Given the description of an element on the screen output the (x, y) to click on. 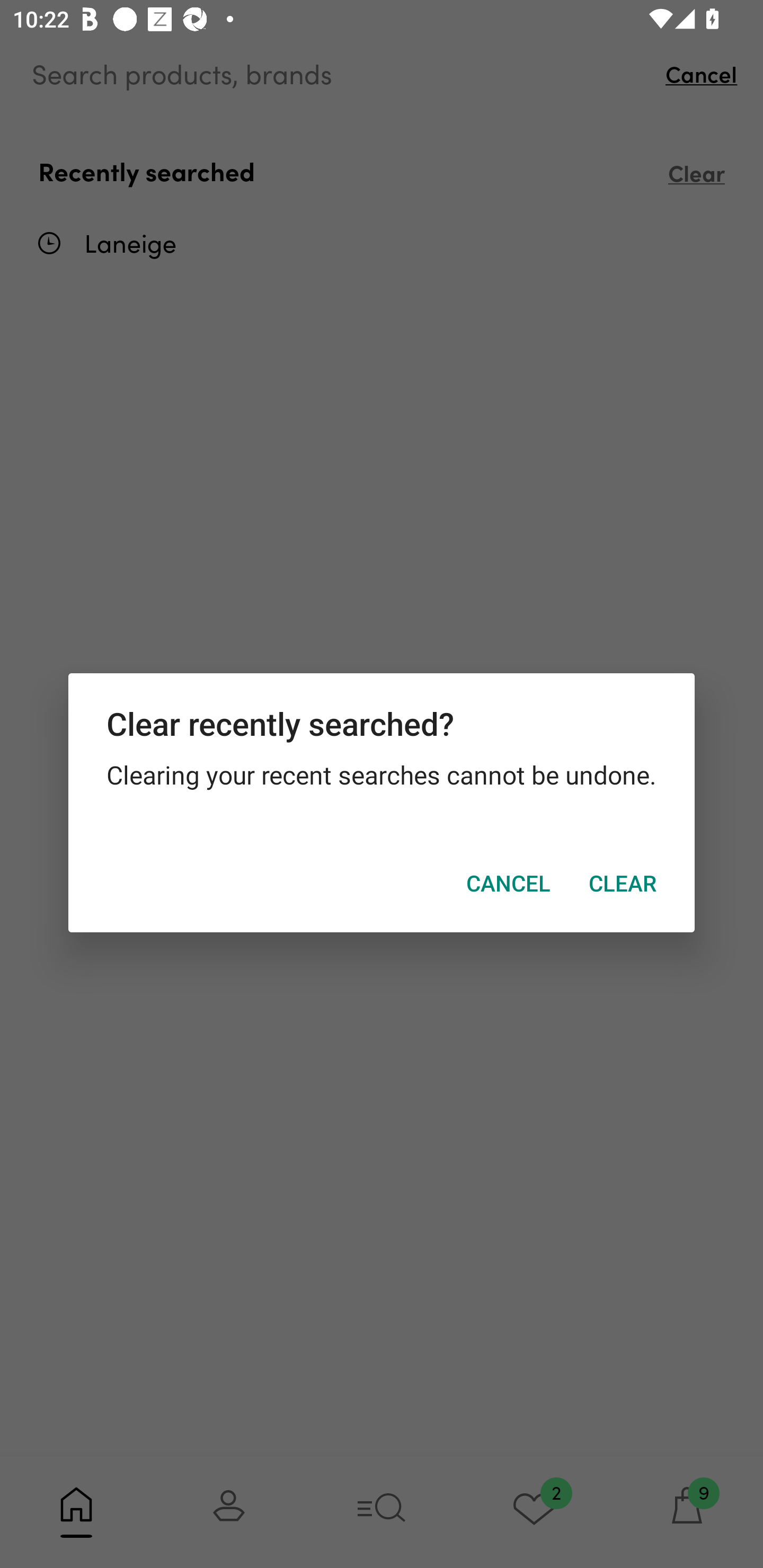
CANCEL (508, 883)
CLEAR (622, 883)
